Given the description of an element on the screen output the (x, y) to click on. 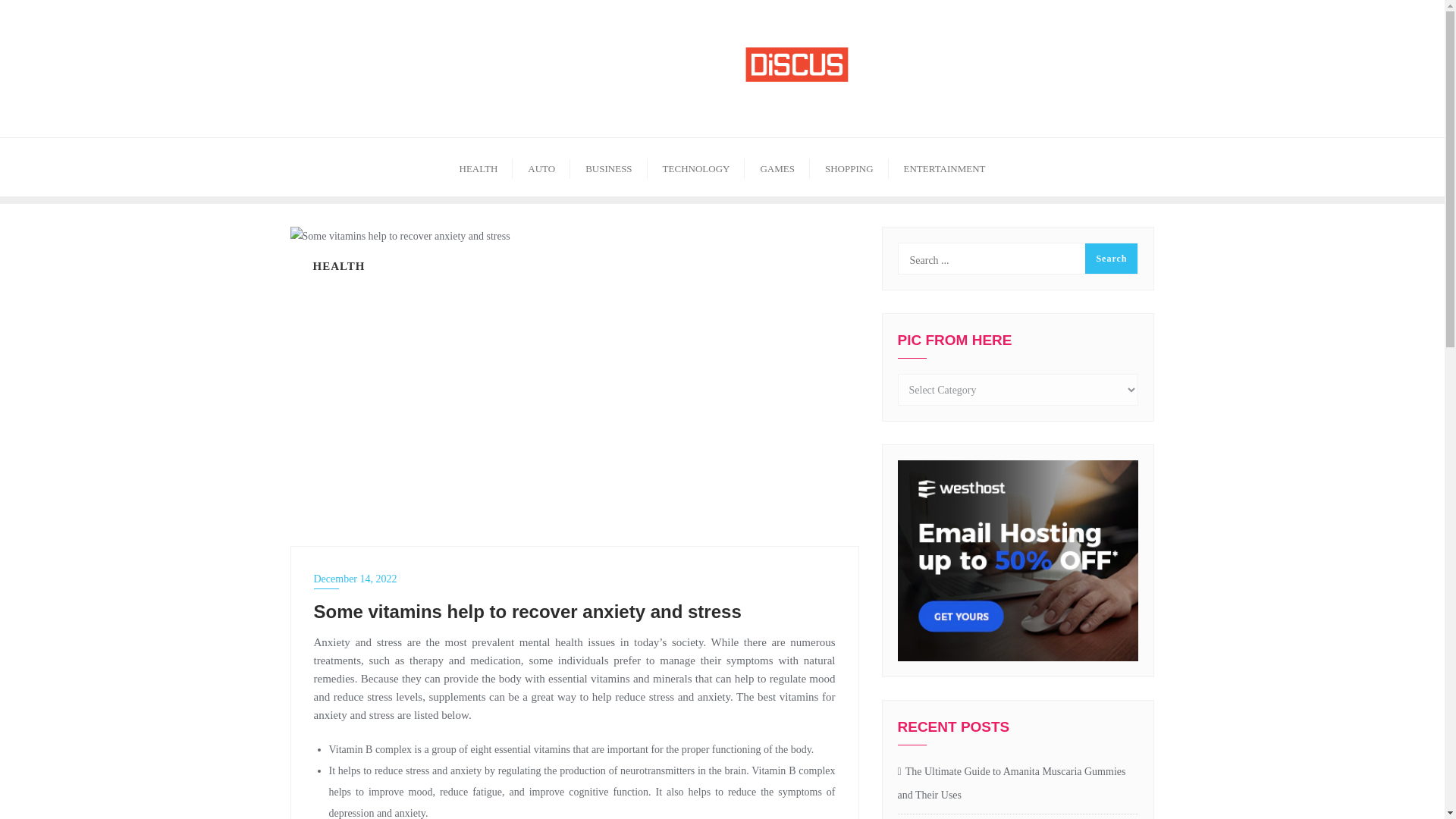
BUSINESS (608, 167)
Search (1110, 258)
Search (1110, 258)
GAMES (776, 167)
ENTERTAINMENT (944, 167)
SHOPPING (848, 167)
Search (1110, 258)
AUTO (541, 167)
HEALTH (478, 167)
December 14, 2022 (574, 578)
TECHNOLOGY (696, 167)
